Given the description of an element on the screen output the (x, y) to click on. 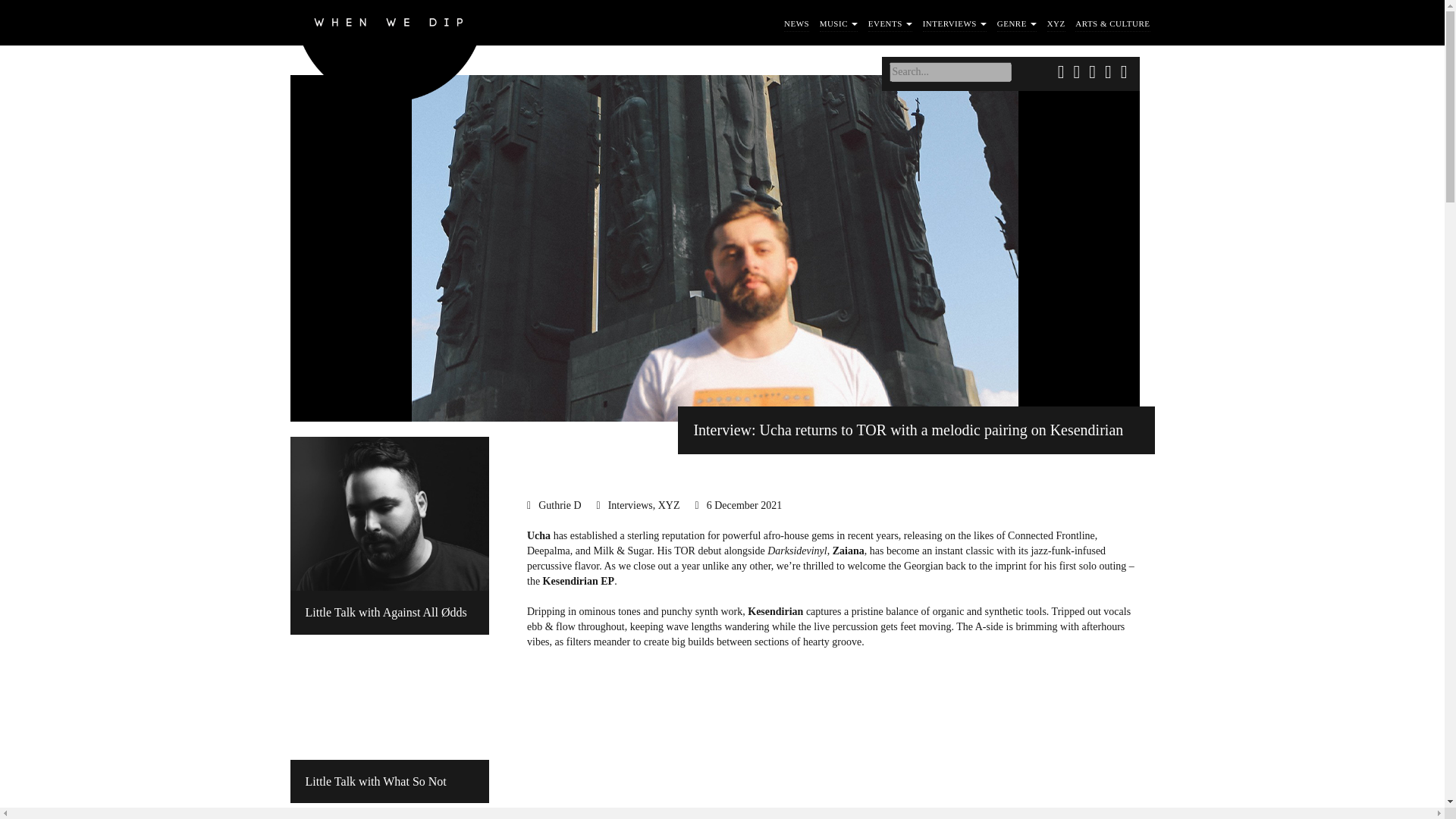
INTERVIEWS (955, 23)
Music (839, 23)
NEWS (796, 23)
GENRE (1016, 23)
Events (889, 23)
Interviews (955, 23)
MUSIC (839, 23)
When We Dip (389, 54)
News (796, 23)
When We Dip (389, 54)
